Given the description of an element on the screen output the (x, y) to click on. 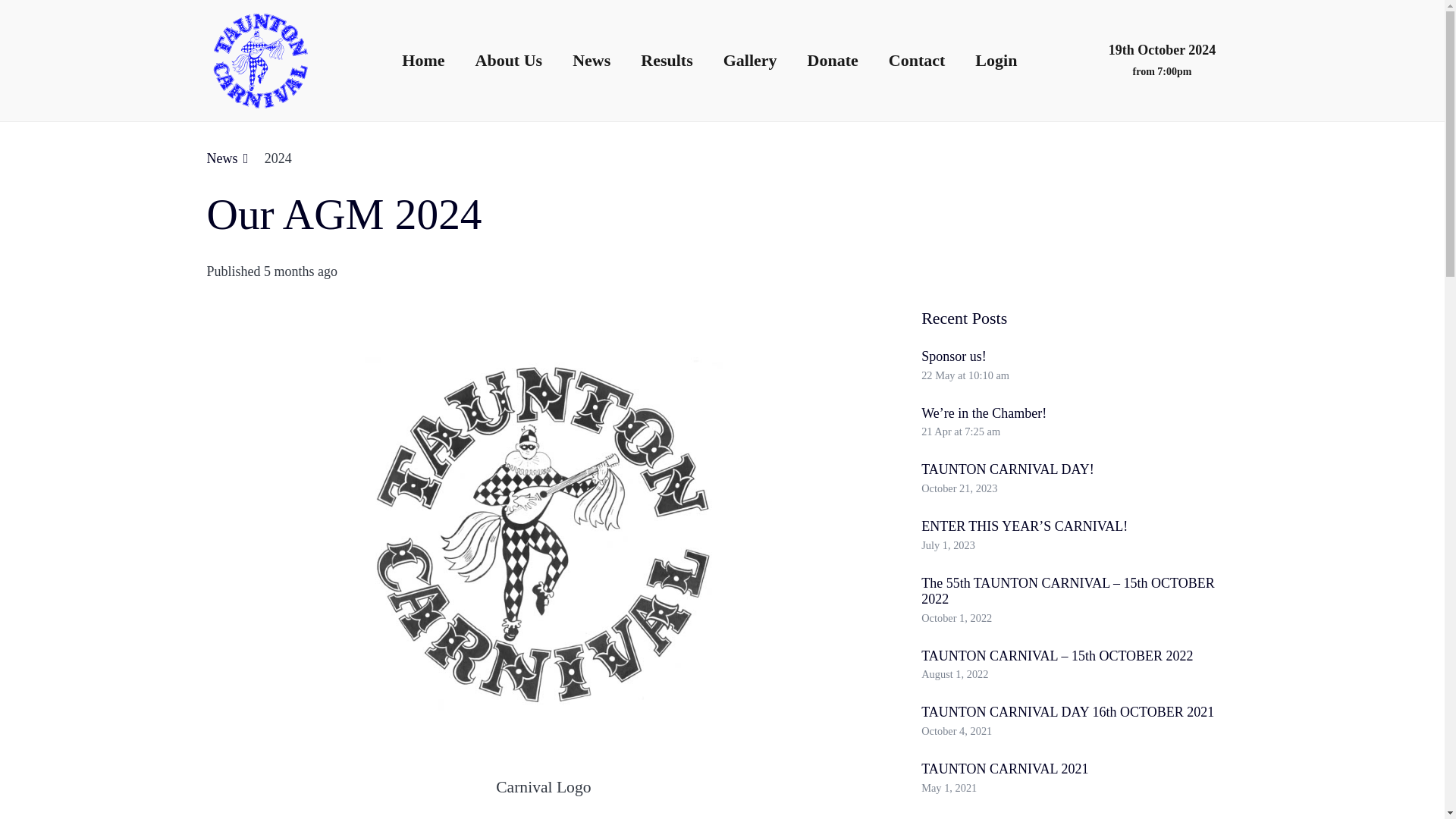
Gallery (749, 60)
TAUNTON CARNIVAL DAY! (1007, 468)
Contact (916, 60)
TAUNTON CARNIVAL 2021 (1004, 768)
News (591, 60)
News (226, 158)
Home (423, 60)
Login (995, 60)
TAUNTON CARNIVAL DAY 16th OCTOBER 2021 (1067, 711)
About Us (508, 60)
Donate (832, 60)
Sponsor us! (954, 355)
Results (666, 60)
2024 (278, 158)
